Given the description of an element on the screen output the (x, y) to click on. 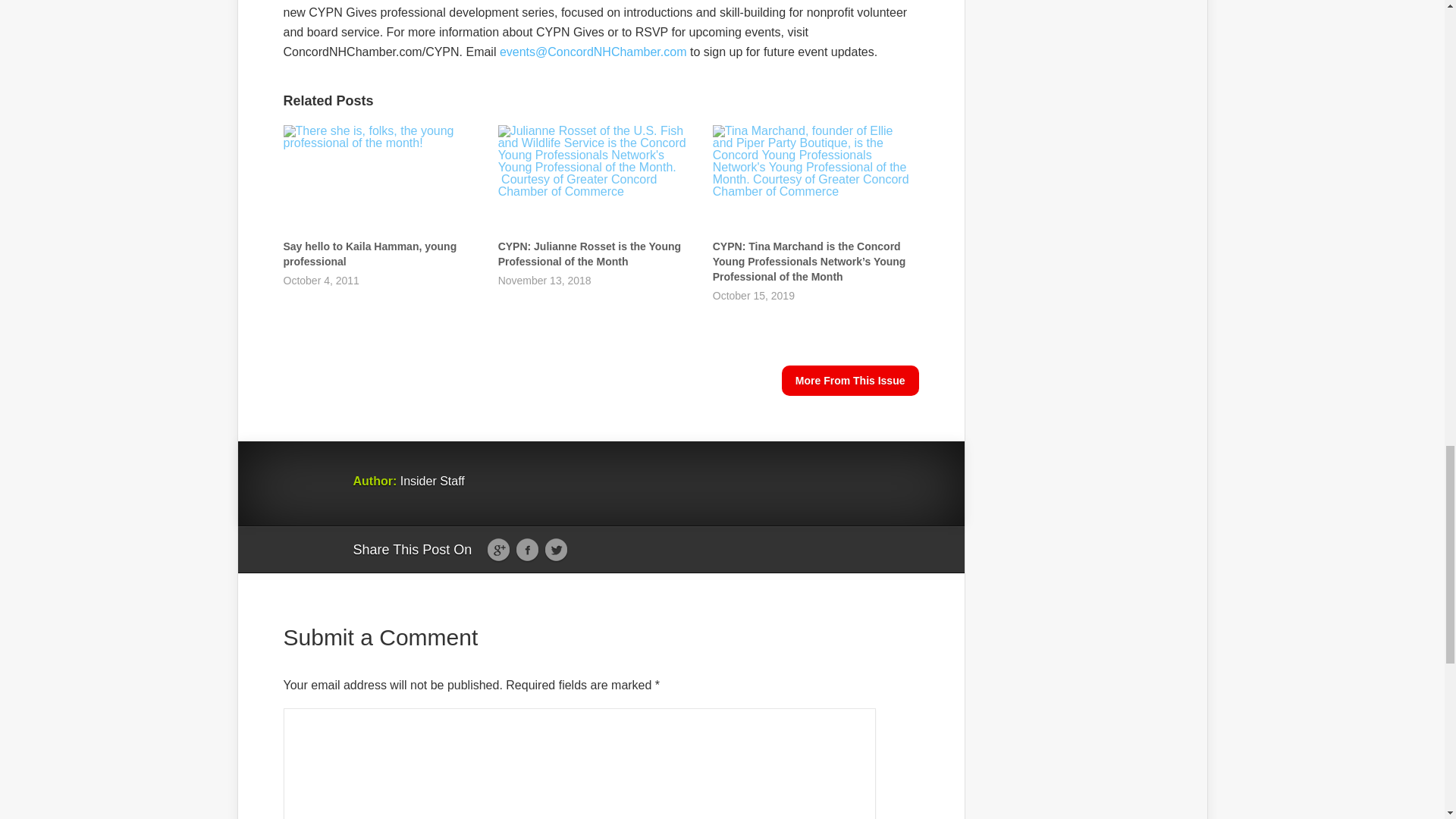
Say hello to Kaila Hamman, young professional (370, 253)
CYPN: Julianne Rosset is the Young Professional of the Month (597, 182)
Say hello to Kaila Hamman, young professional (383, 182)
CYPN: Julianne Rosset is the Young Professional of the Month (589, 253)
